Given the description of an element on the screen output the (x, y) to click on. 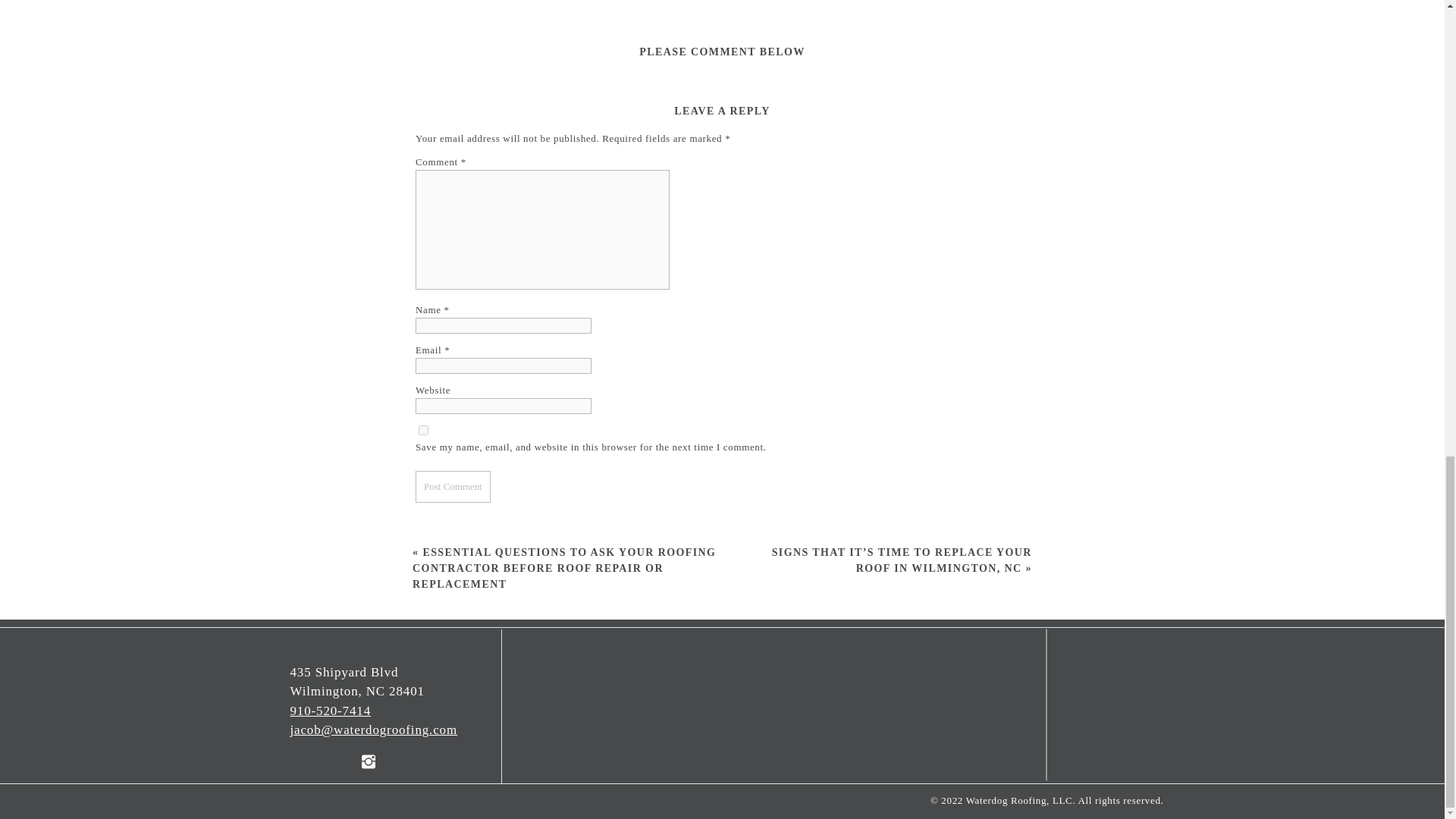
yes (423, 429)
Post Comment (452, 486)
910-520-7414 (330, 710)
PLEASE COMMENT BELOW (722, 51)
Post Comment (452, 486)
